Given the description of an element on the screen output the (x, y) to click on. 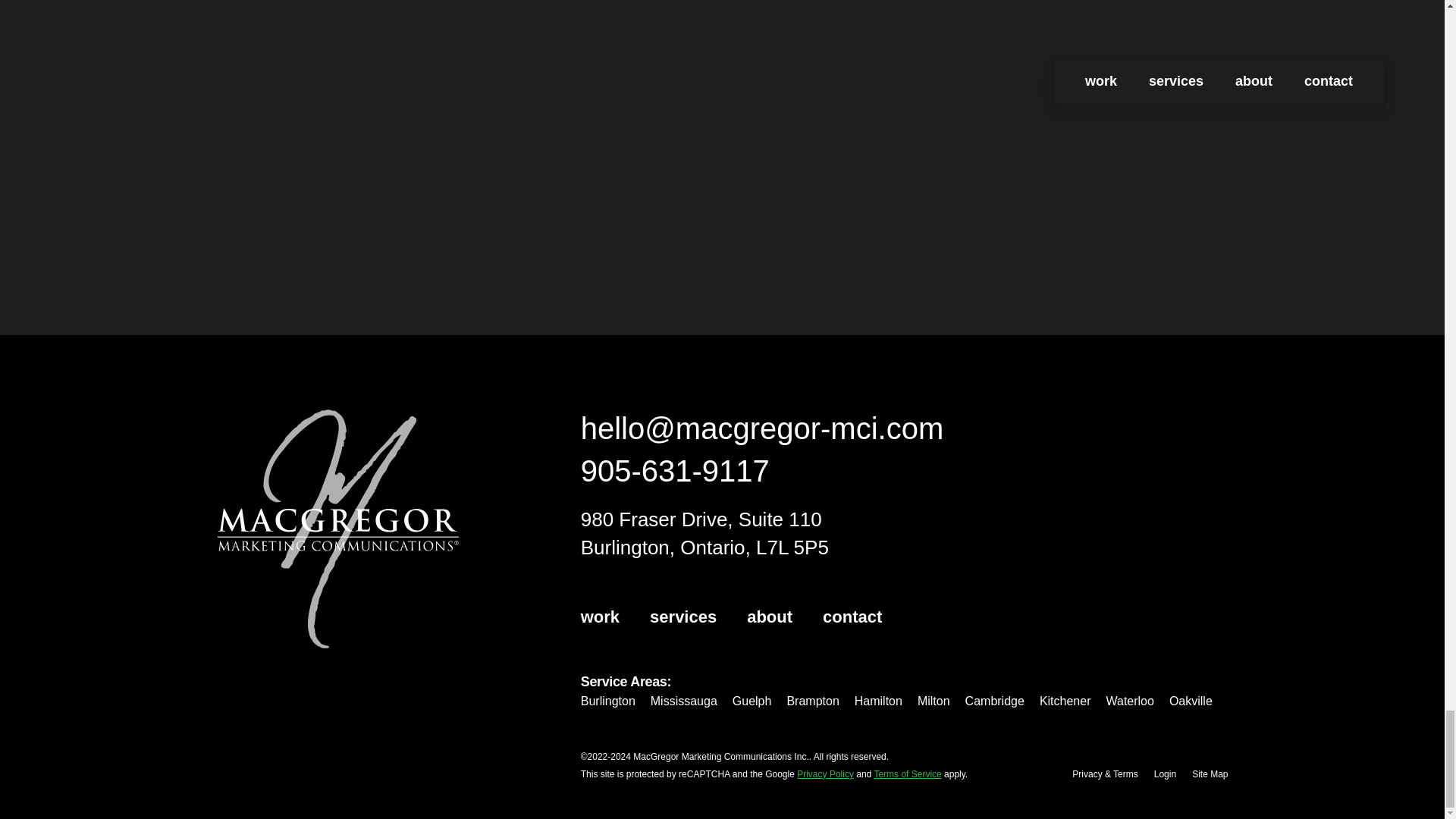
about (769, 617)
905-631-9117 (675, 470)
Burlington (607, 701)
Cambridge (995, 701)
Milton (933, 701)
Hamilton (878, 701)
work (600, 617)
services (682, 617)
contact (852, 617)
Waterloo (1129, 701)
